Given the description of an element on the screen output the (x, y) to click on. 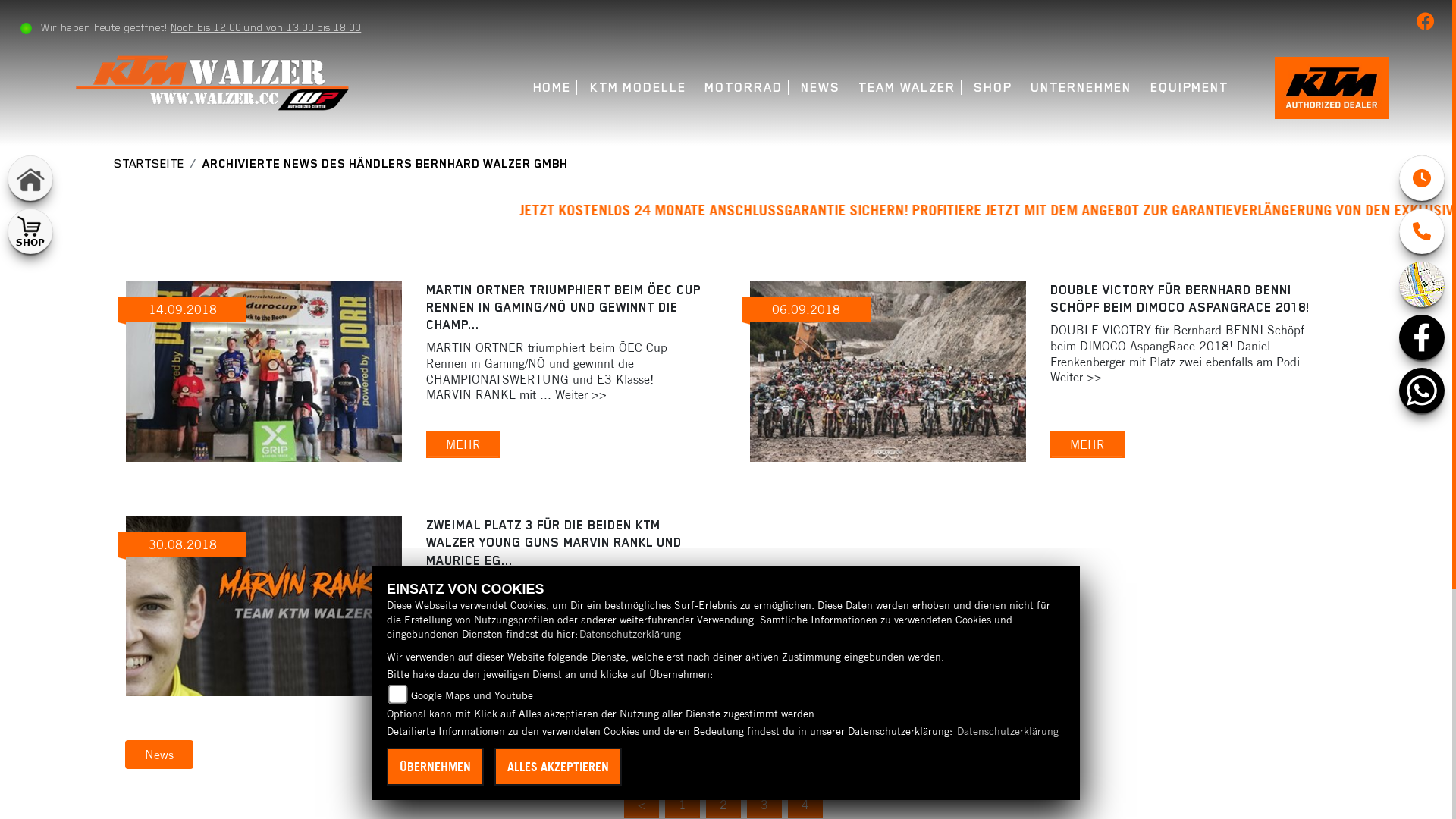
Noch bis 12:00 und von 13:00 bis 18:00 Element type: text (265, 27)
Startseite Bernhard Walzer GmbH Element type: hover (215, 81)
TEAM WALZER Element type: text (906, 87)
< Element type: text (640, 804)
ALLES AKZEPTIEREN Element type: text (557, 766)
Kontaktdaten Element type: hover (1421, 231)
Facebook Element type: hover (1421, 337)
EQUIPMENT Element type: text (1189, 87)
2 Element type: text (722, 804)
MOTORRAD Element type: text (742, 87)
STARTSEITE Element type: text (148, 163)
WhatsApp Element type: hover (1421, 390)
Facebook Fanpage von Bernhard Walzer GmbH Element type: hover (1428, 24)
Logo Element type: hover (215, 82)
1 Element type: text (681, 804)
UNTERNEHMEN Element type: text (1080, 87)
News Element type: text (159, 754)
Startseite Bernhard Walzer GmbH Element type: hover (1331, 86)
HOME Element type: text (552, 87)
KTM MODELLE Element type: text (637, 87)
SHOP Element type: text (992, 87)
NEWS Element type: text (820, 87)
3 Element type: text (763, 804)
